Given the description of an element on the screen output the (x, y) to click on. 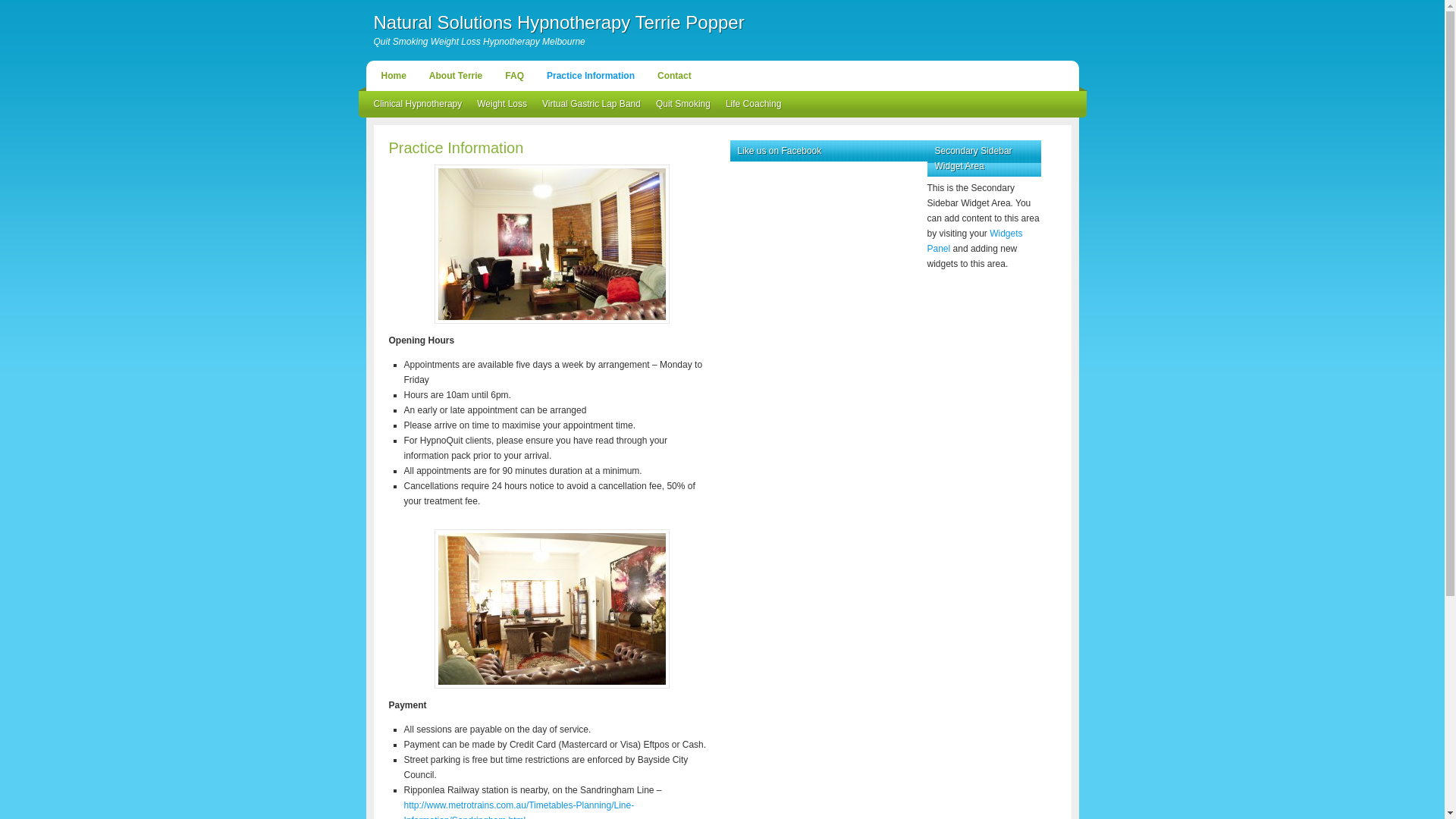
Widgets Panel Element type: text (974, 241)
FAQ Element type: text (514, 75)
Home Element type: text (393, 75)
_DSC8093 Element type: hover (550, 608)
Weight Loss Element type: text (501, 104)
Natural Solutions Hypnotherapy Terrie Popper Element type: text (558, 22)
Clinical Hypnotherapy Element type: text (417, 104)
Life Coaching Element type: text (753, 104)
About Terrie Element type: text (455, 75)
_DSC8086 Element type: hover (550, 243)
Quit Smoking Element type: text (683, 104)
Practice Information Element type: text (590, 75)
Contact Element type: text (674, 75)
Virtual Gastric Lap Band Element type: text (591, 104)
